Given the description of an element on the screen output the (x, y) to click on. 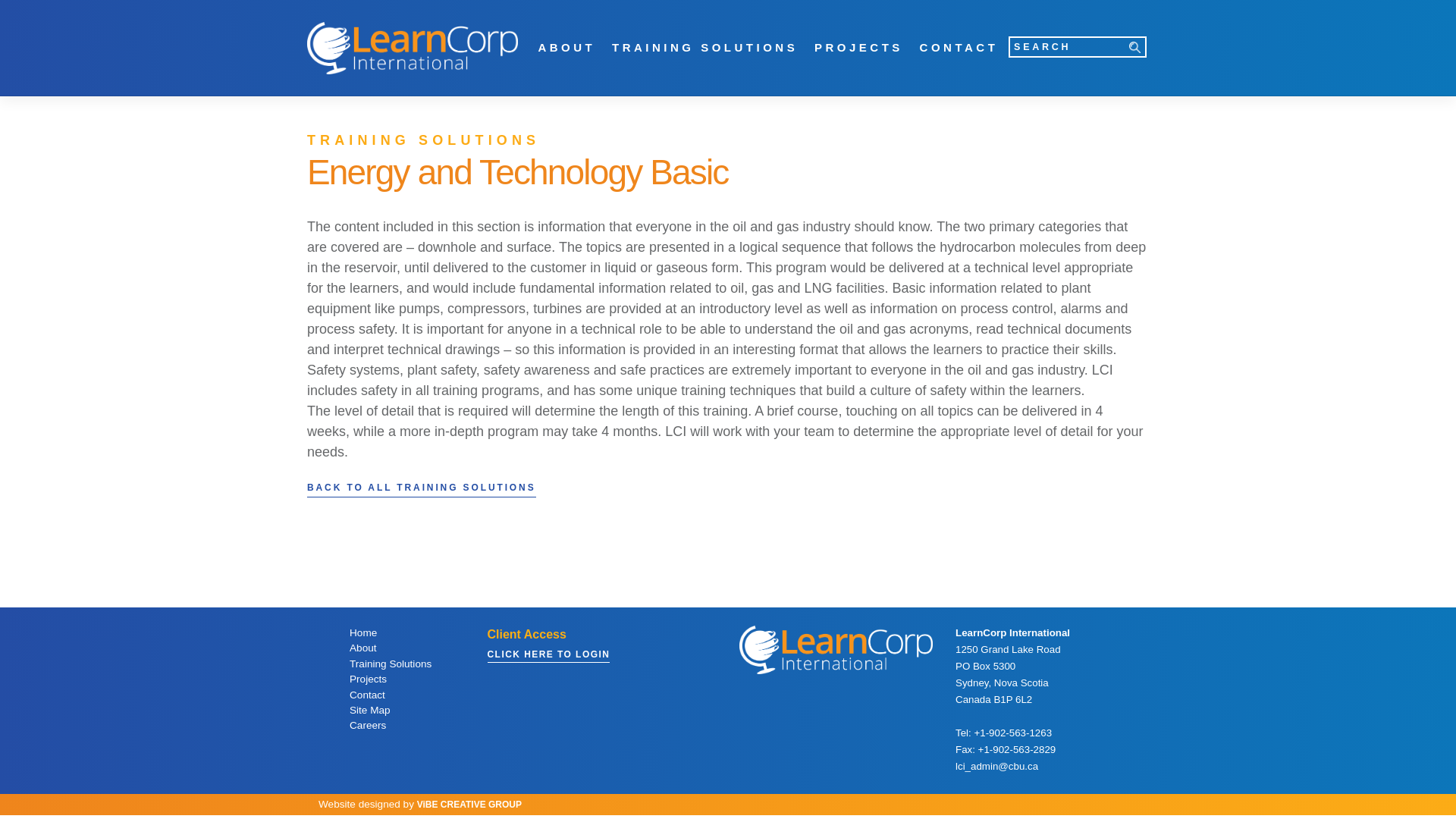
Training Solutions (400, 663)
ABOUT (566, 48)
Contact (959, 48)
Contact (400, 694)
Site Map (400, 710)
Site Map (400, 710)
Projects (858, 48)
ViBE CREATIVE GROUP (468, 804)
Projects (400, 679)
Training Solutions (704, 48)
